Given the description of an element on the screen output the (x, y) to click on. 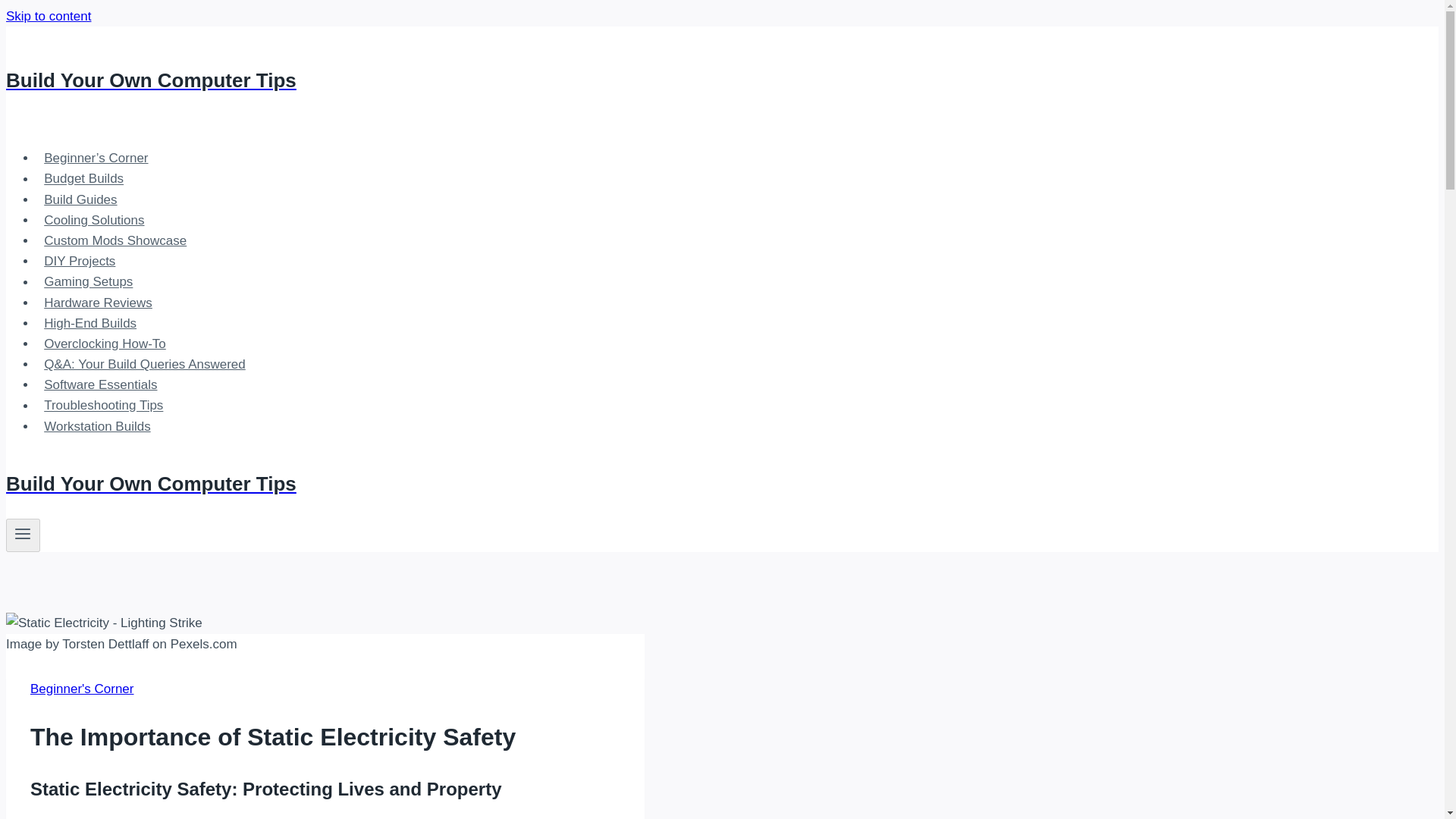
Workstation Builds (97, 426)
Budget Builds (83, 178)
Custom Mods Showcase (114, 240)
Cooling Solutions (94, 220)
Skip to content (47, 16)
Software Essentials (100, 384)
Hardware Reviews (98, 302)
Build Guides (80, 199)
Gaming Setups (88, 281)
High-End Builds (90, 323)
